Given the description of an element on the screen output the (x, y) to click on. 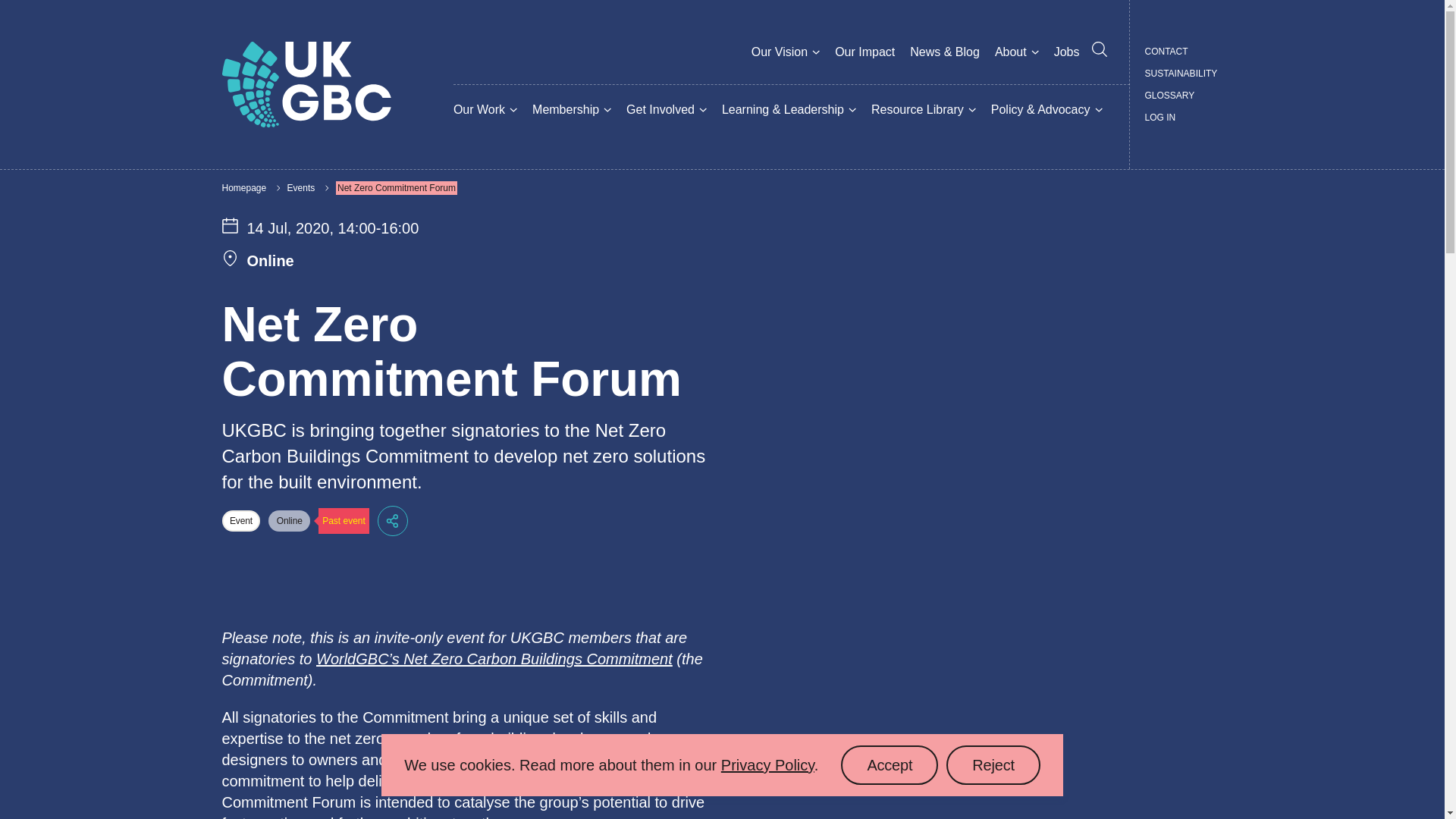
SUSTAINABILITY (1180, 73)
Get Involved (660, 109)
Privacy Policy (766, 764)
Share (392, 521)
Our Work (478, 109)
About (1010, 52)
CONTACT (1166, 51)
Event (240, 520)
LOG IN (1160, 117)
